Given the description of an element on the screen output the (x, y) to click on. 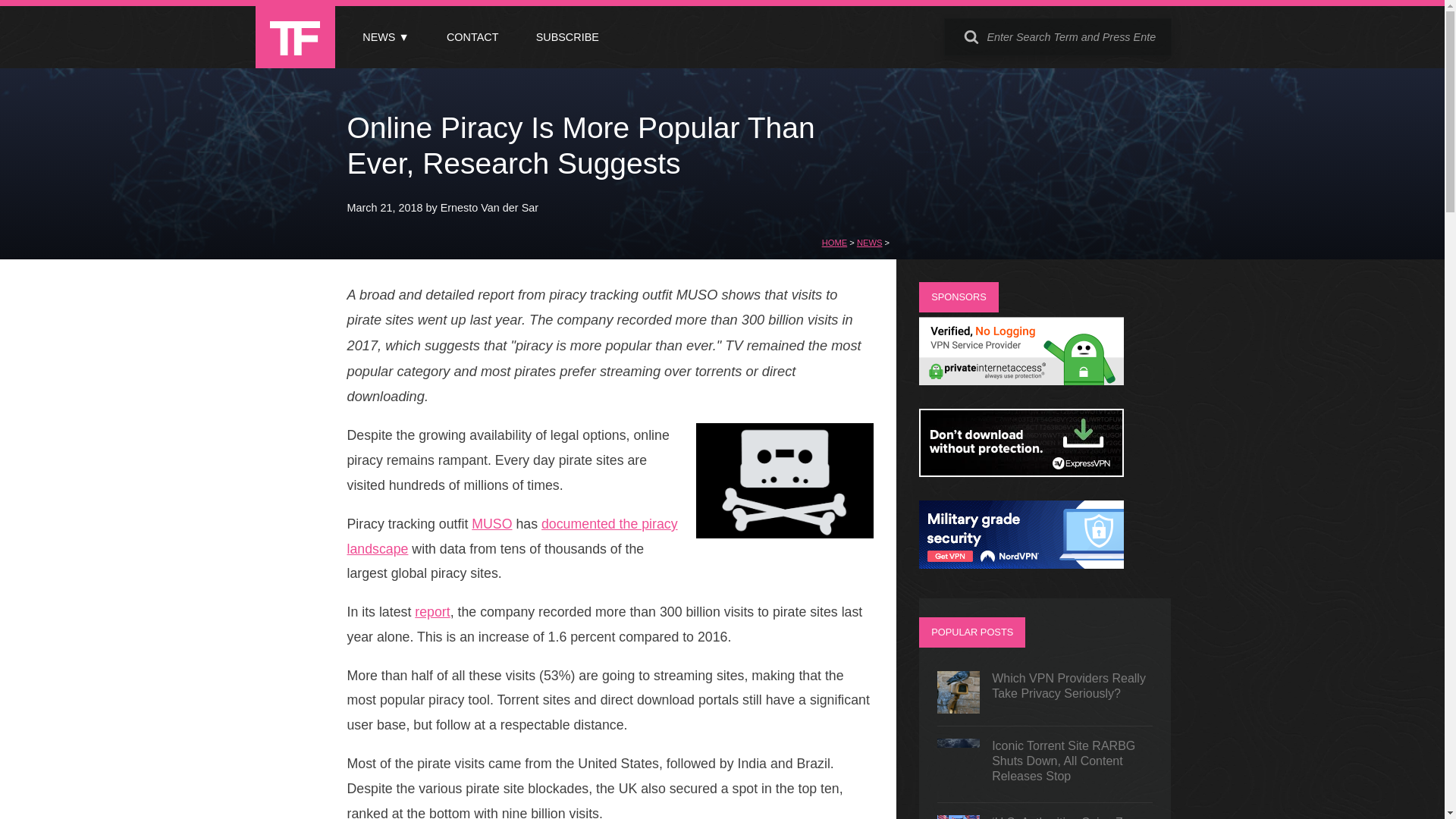
Which VPN Providers Really Take Privacy Seriously? (1045, 691)
Ernesto Van der Sar (489, 207)
report (431, 611)
Go to the News category archives. (869, 242)
Go to TorrentFreak. (834, 242)
ExpressVPN (1021, 472)
NEWS (869, 242)
SUBSCRIBE (566, 37)
documented the piracy landscape (512, 536)
CONTACT (471, 37)
MUSO (491, 523)
HOME (834, 242)
Private Internet Access (1021, 380)
